Given the description of an element on the screen output the (x, y) to click on. 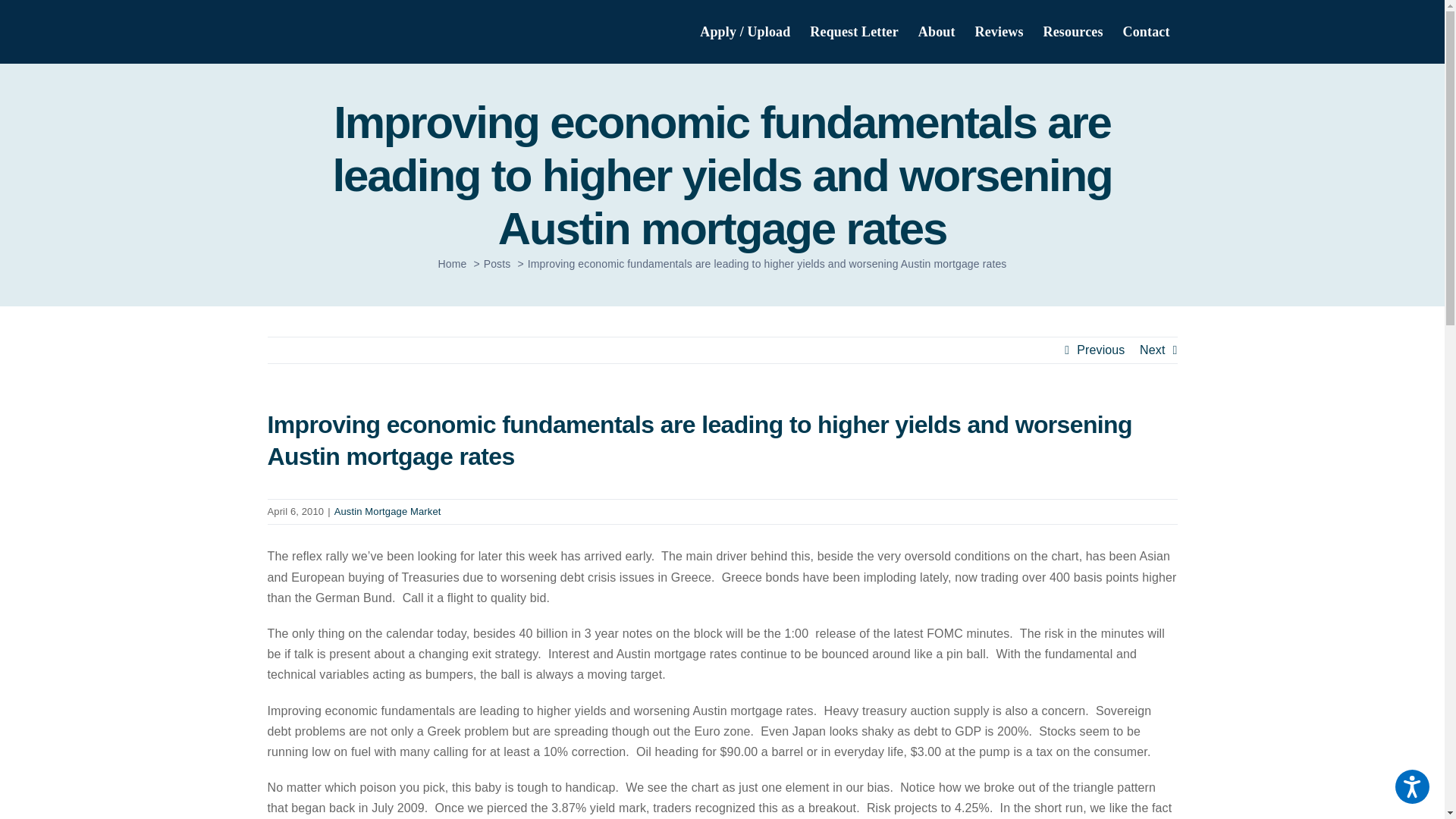
Reviews (999, 31)
Contact (1146, 31)
About (936, 31)
Austin Mortgage Market (387, 511)
Next (1152, 350)
Previous (1100, 350)
Resources (1072, 31)
Posts (497, 263)
Home (452, 263)
Request Letter (853, 31)
